Given the description of an element on the screen output the (x, y) to click on. 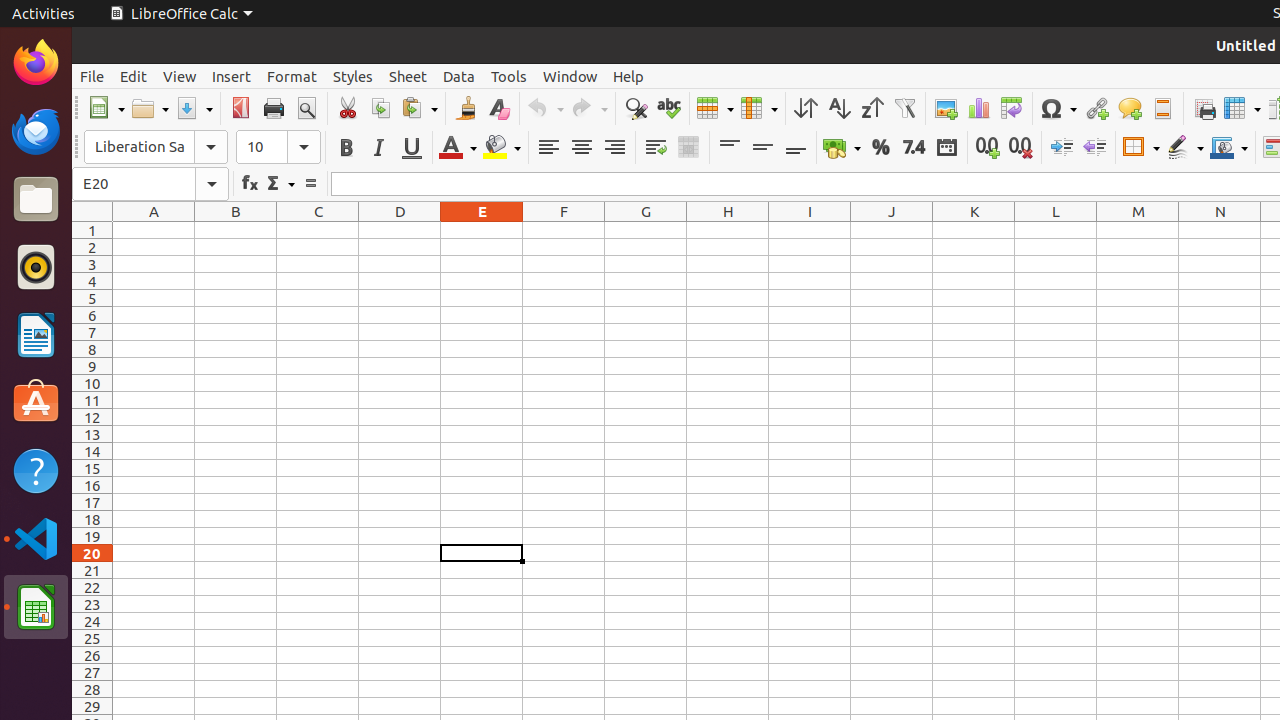
Paste Element type: push-button (419, 108)
Open Element type: push-button (150, 108)
PDF Element type: push-button (240, 108)
Borders (Shift to overwrite) Element type: push-button (1141, 147)
N1 Element type: table-cell (1220, 230)
